Given the description of an element on the screen output the (x, y) to click on. 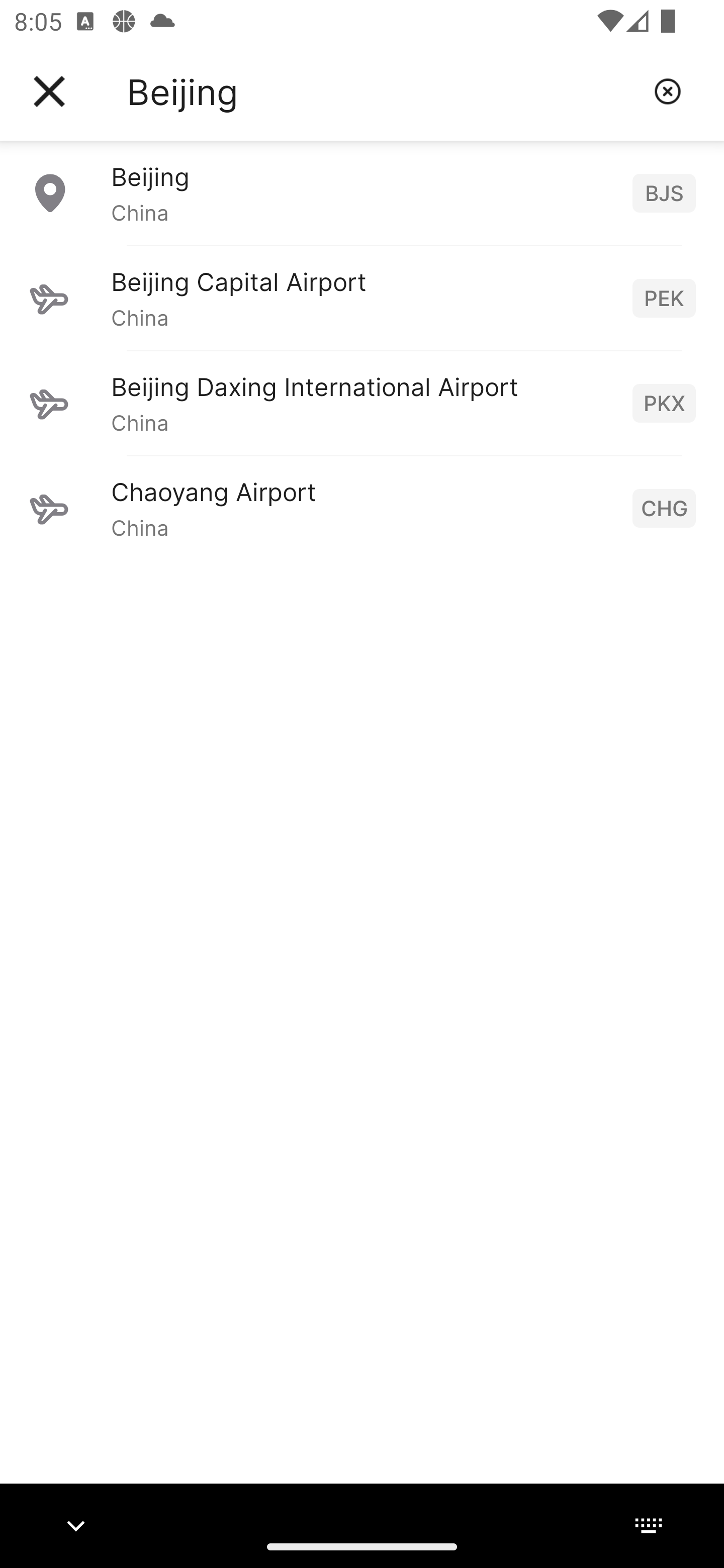
Beijing (382, 91)
Beijing China BJS (362, 192)
Beijing Capital Airport China PEK (362, 297)
Beijing Daxing International Airport China PKX (362, 402)
Chaoyang Airport China CHG (362, 507)
